Given the description of an element on the screen output the (x, y) to click on. 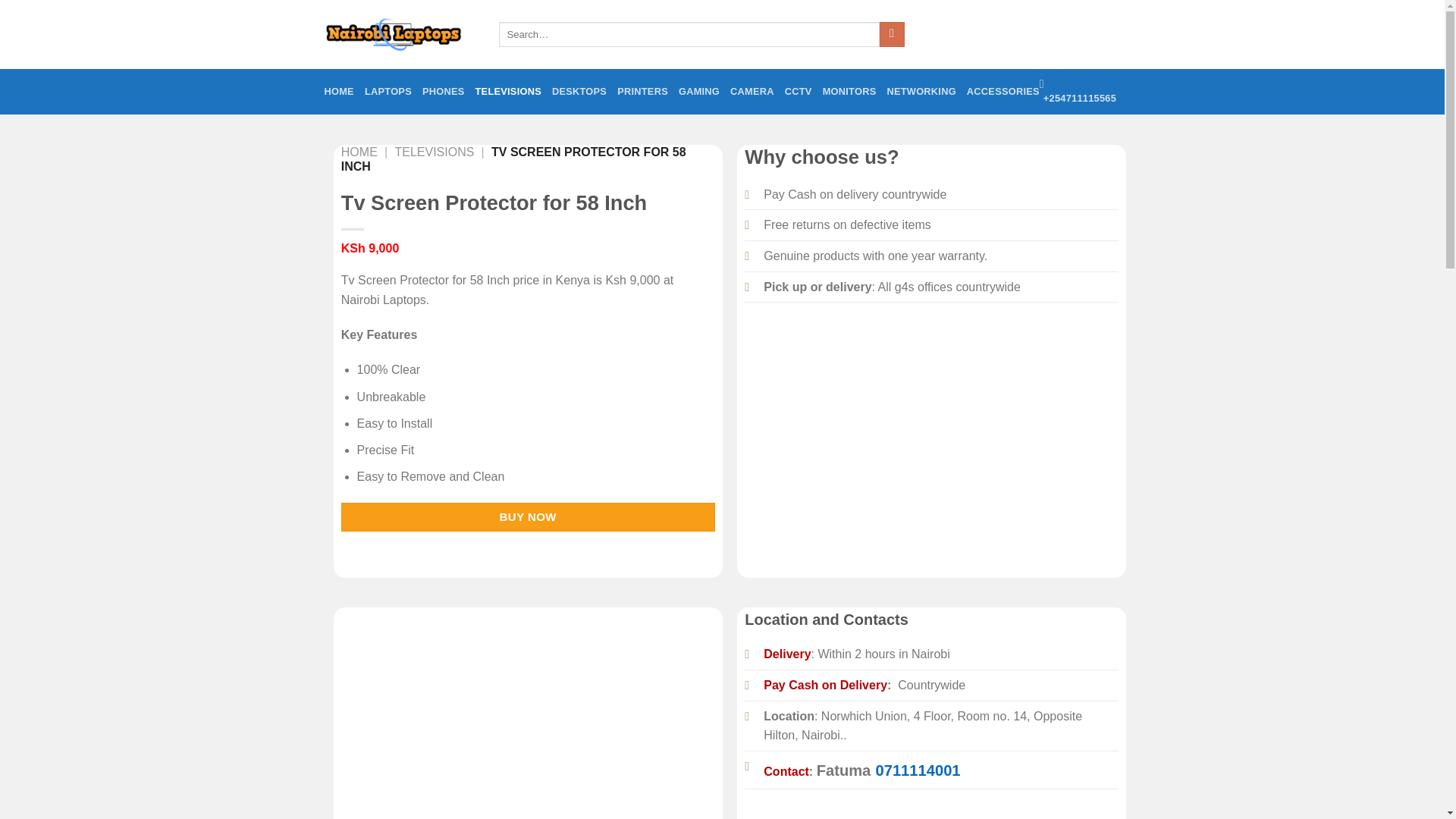
MONITORS (1092, 34)
NETWORKING (849, 91)
LAPTOPS (920, 91)
HOME (388, 91)
GAMING (338, 91)
CCTV (698, 91)
ACCESSORIES (798, 91)
Cart (1002, 91)
HOME (1092, 34)
Search (358, 151)
0711114001 (891, 34)
TELEVISIONS (917, 770)
BUY NOW (508, 91)
